Given the description of an element on the screen output the (x, y) to click on. 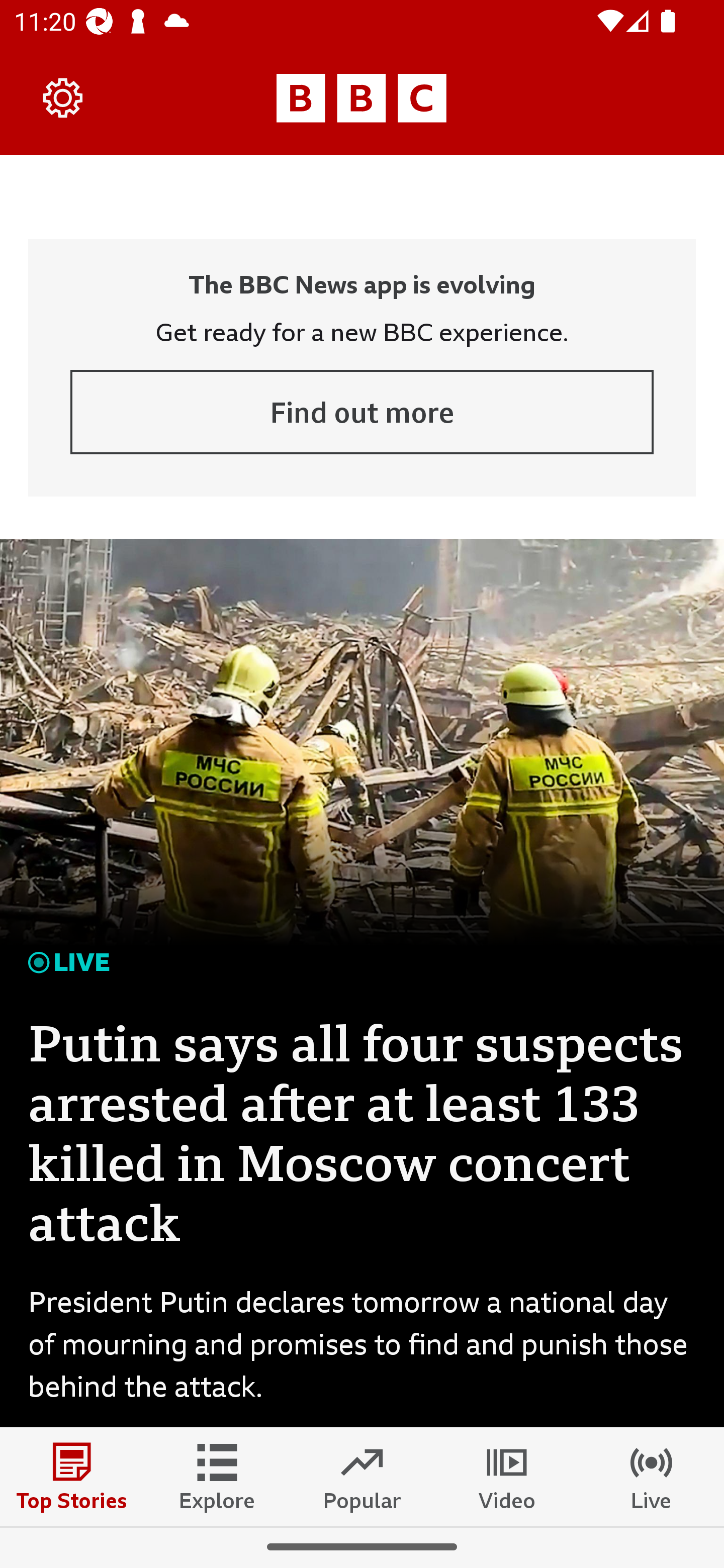
Settings (63, 97)
Find out more (361, 412)
Explore (216, 1475)
Popular (361, 1475)
Video (506, 1475)
Live (651, 1475)
